Given the description of an element on the screen output the (x, y) to click on. 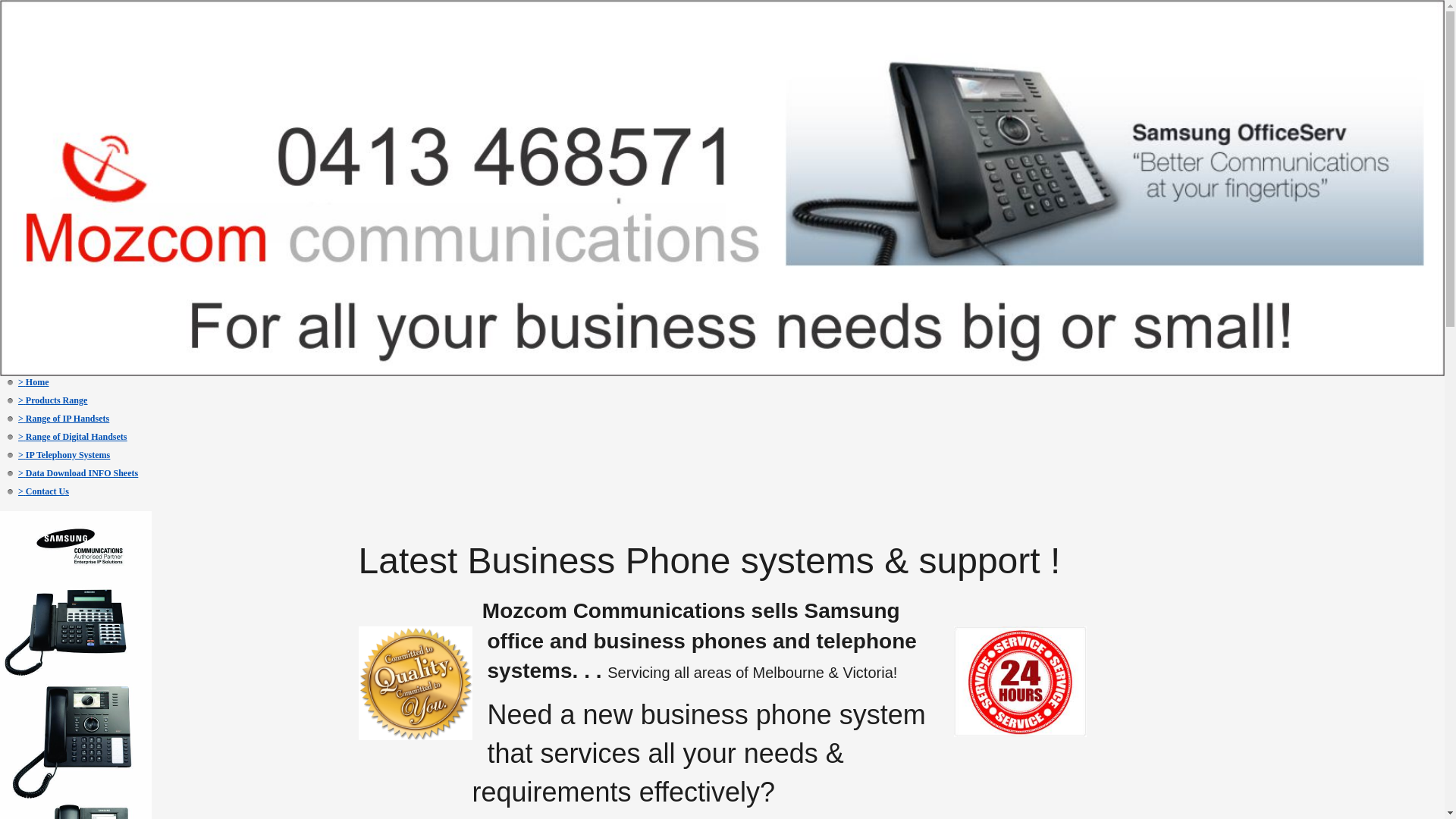
> Home Element type: text (33, 381)
> Range of Digital Handsets Element type: text (72, 436)
> Range of IP Handsets Element type: text (63, 418)
> Products Range Element type: text (52, 400)
> IP Telephony Systems Element type: text (63, 454)
> Data Download INFO Sheets Element type: text (78, 472)
> Contact Us Element type: text (43, 491)
